Given the description of an element on the screen output the (x, y) to click on. 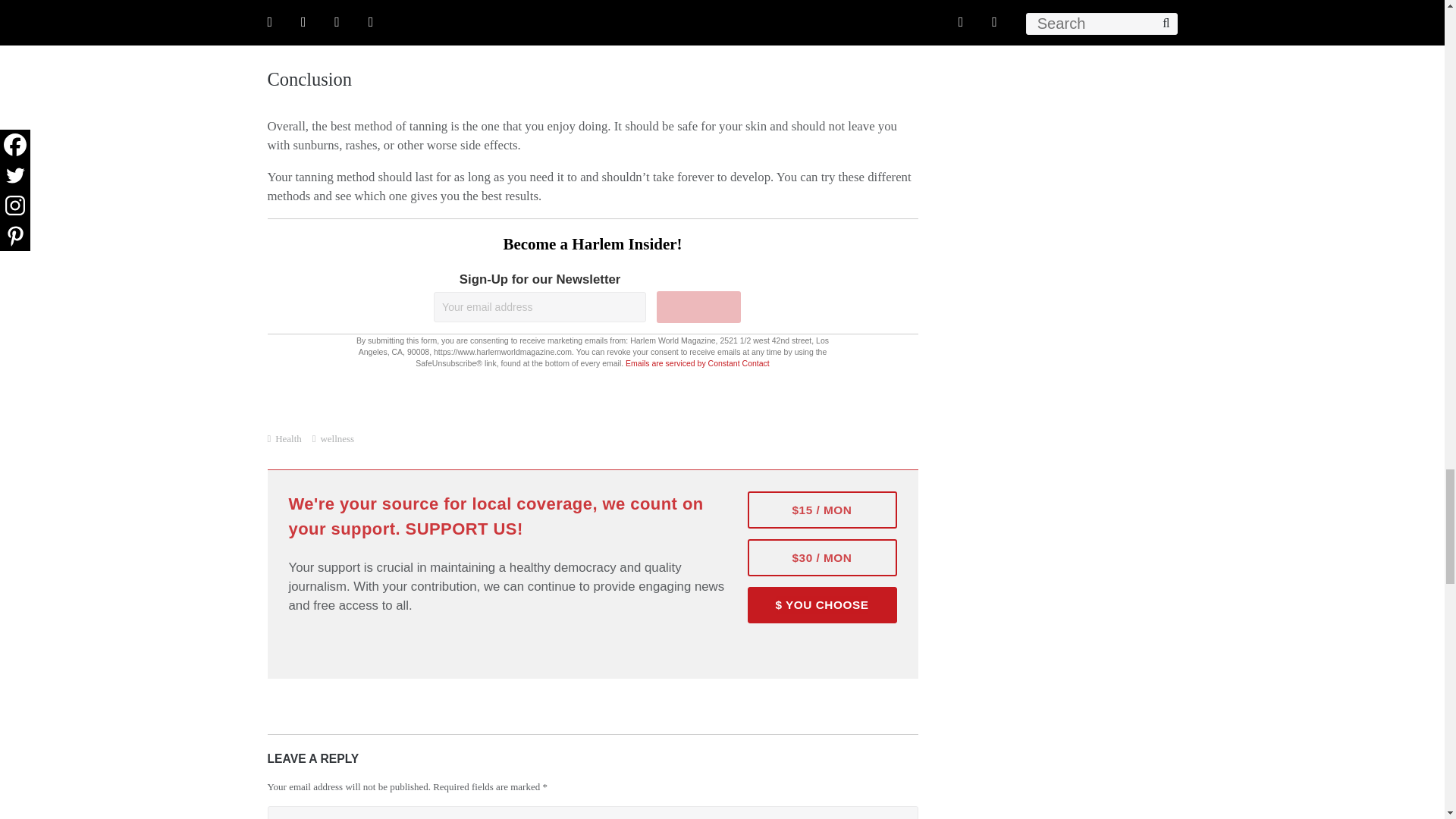
Emails are serviced by Constant Contact (698, 362)
Sign up (698, 306)
Sign up (698, 306)
Health (288, 438)
wellness (336, 438)
